Given the description of an element on the screen output the (x, y) to click on. 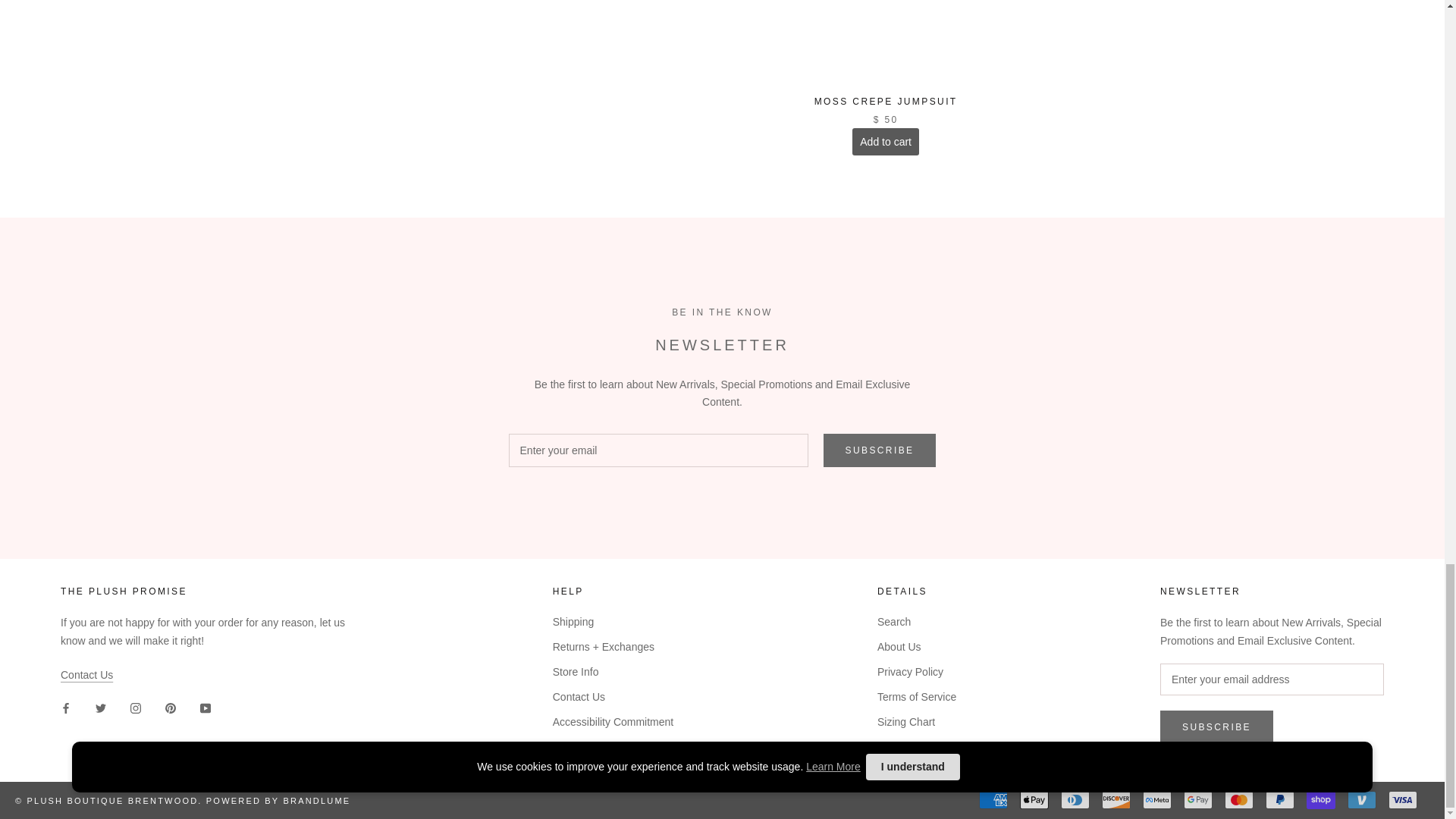
Add to cart (884, 141)
Contact (87, 674)
American Express (992, 800)
Discover (1116, 800)
Apple Pay (1034, 800)
Diners Club (1075, 800)
